Given the description of an element on the screen output the (x, y) to click on. 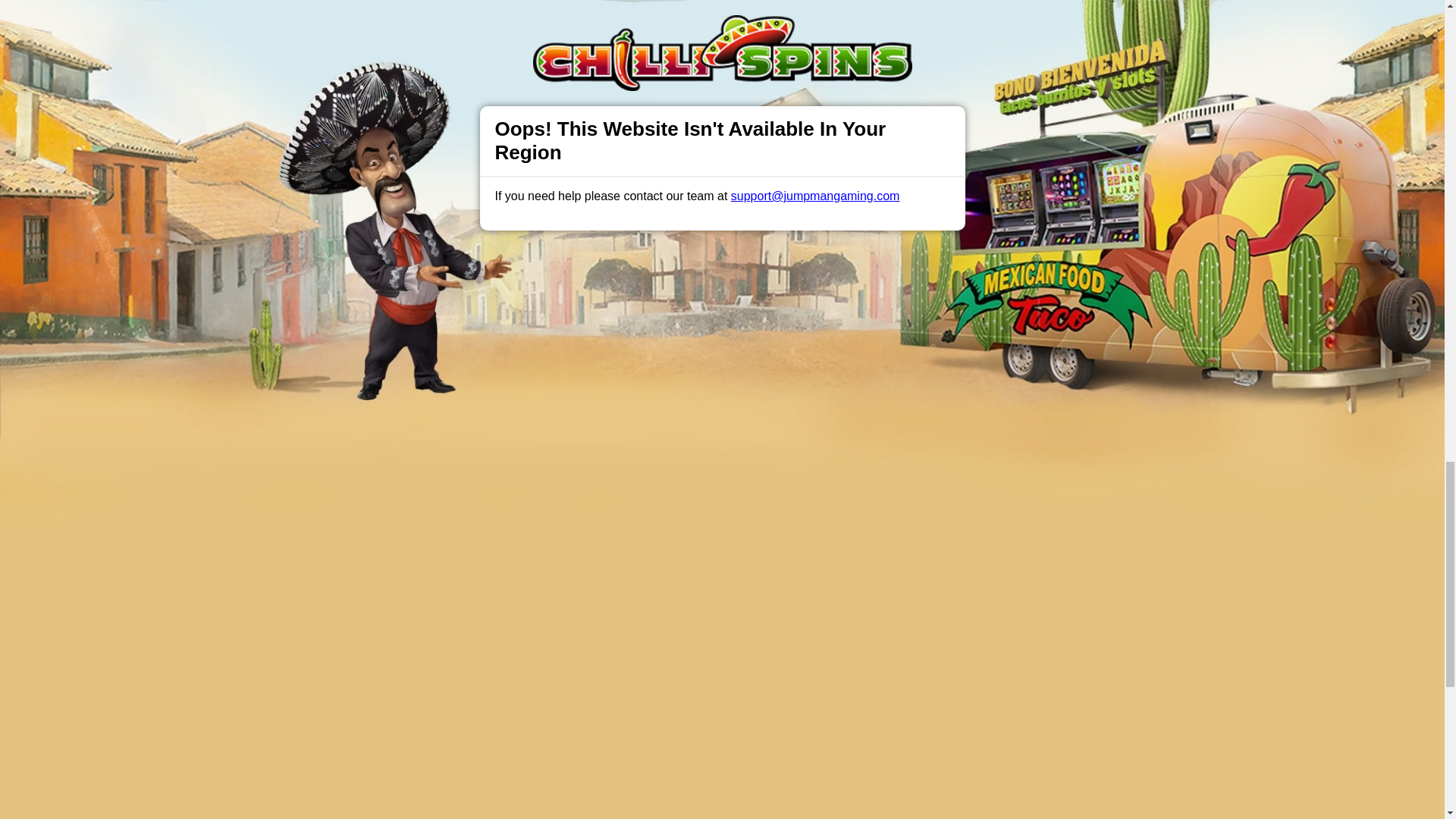
Back To All Games (721, 816)
